Given the description of an element on the screen output the (x, y) to click on. 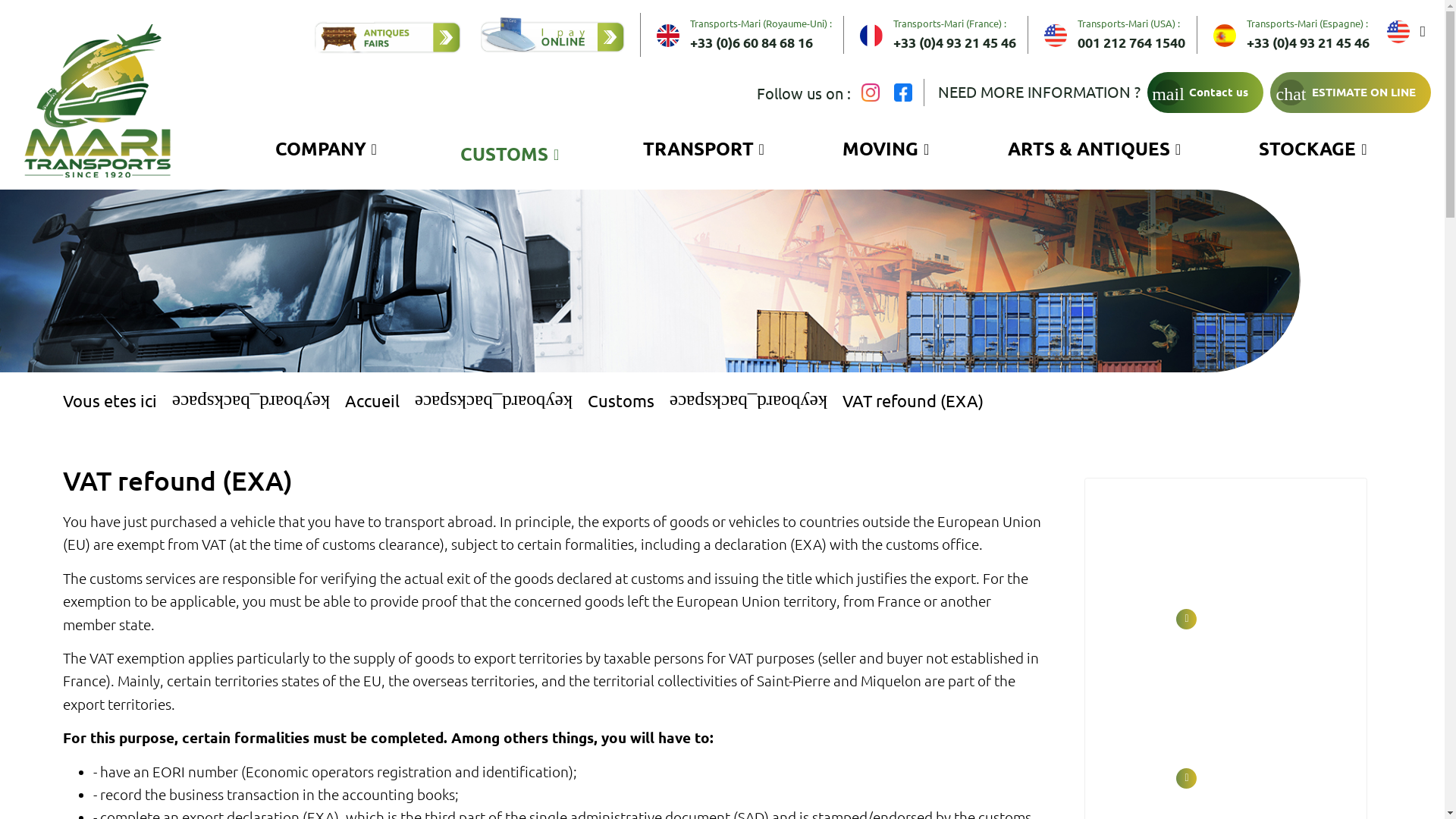
CUSTOMS (509, 154)
mail (1171, 92)
chat (1294, 92)
ESTIMATE ON LINE (1363, 92)
COMPANY (325, 149)
Contact us (1218, 92)
